Given the description of an element on the screen output the (x, y) to click on. 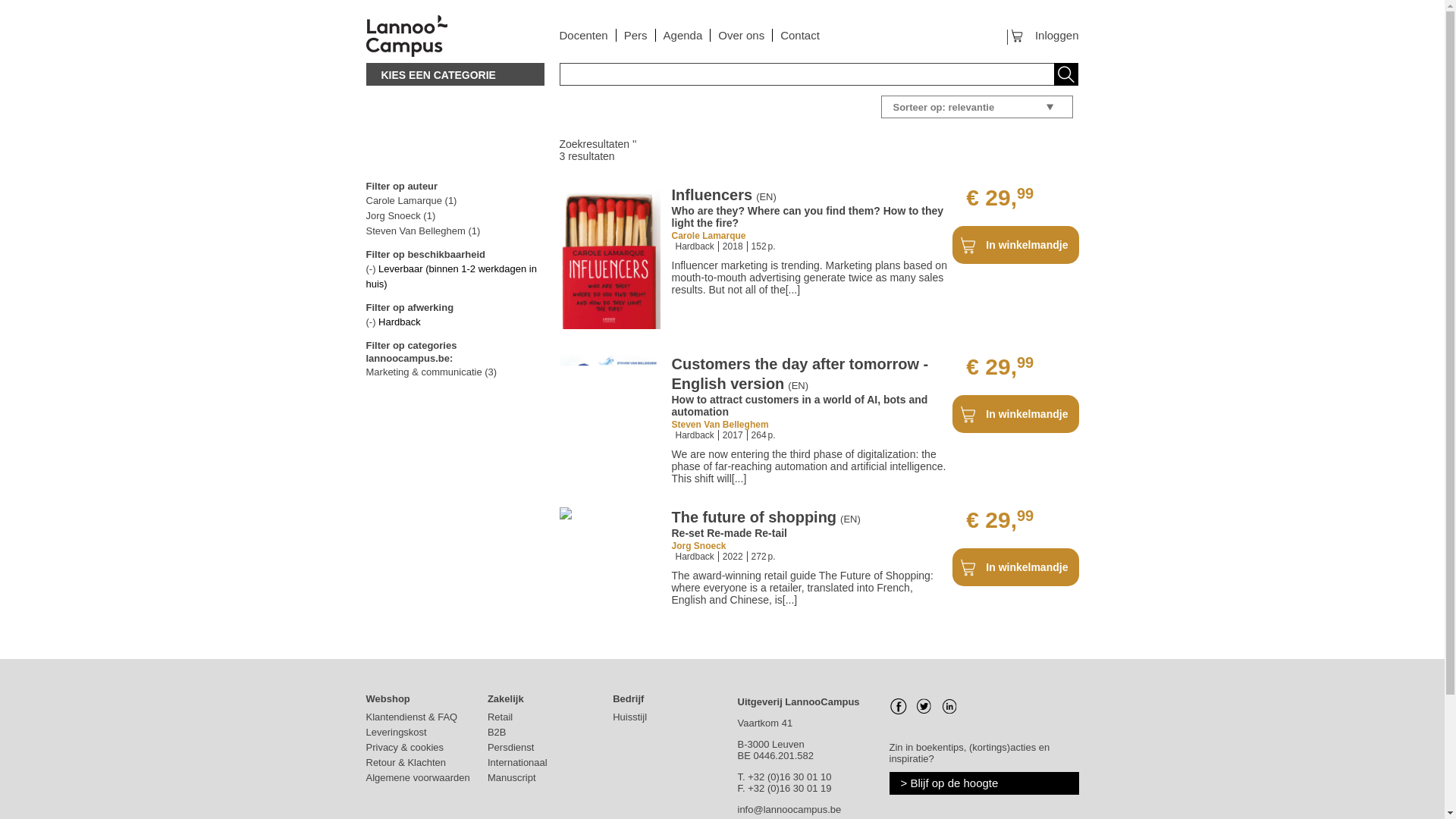
In winkelmandje (1015, 413)
Carole Lamarque (708, 235)
In winkelmandje (1015, 566)
Influencers (711, 194)
Toepassen (1061, 74)
In winkelmandje (1015, 244)
The future of shopping (754, 516)
Customers the day after tomorrow - English version (799, 373)
Docenten (583, 34)
Contact (799, 34)
